Given the description of an element on the screen output the (x, y) to click on. 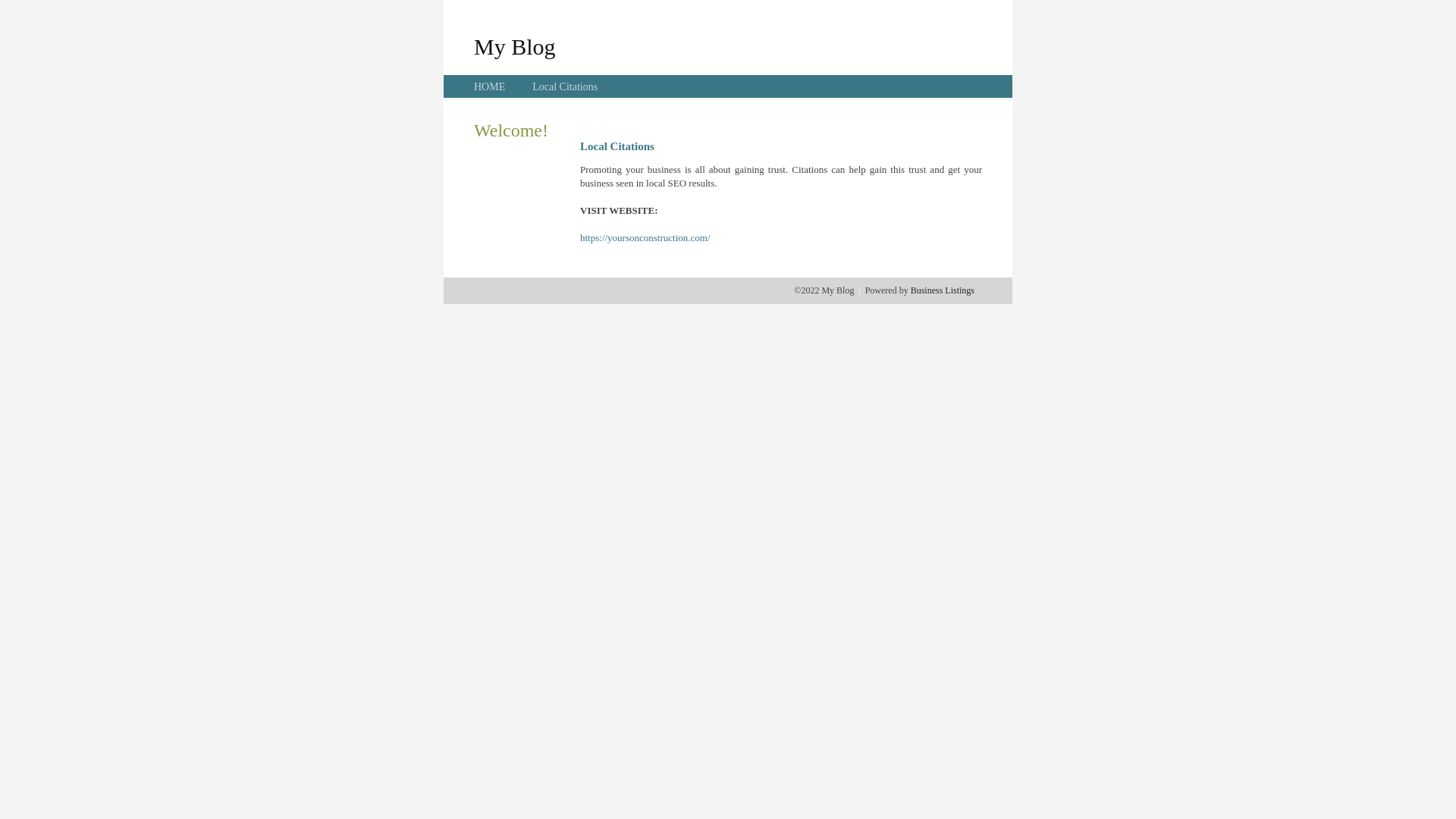
https://yoursonconstruction.com/ Element type: text (645, 237)
Local Citations Element type: text (564, 86)
Business Listings Element type: text (942, 290)
HOME Element type: text (489, 86)
My Blog Element type: text (514, 46)
